Given the description of an element on the screen output the (x, y) to click on. 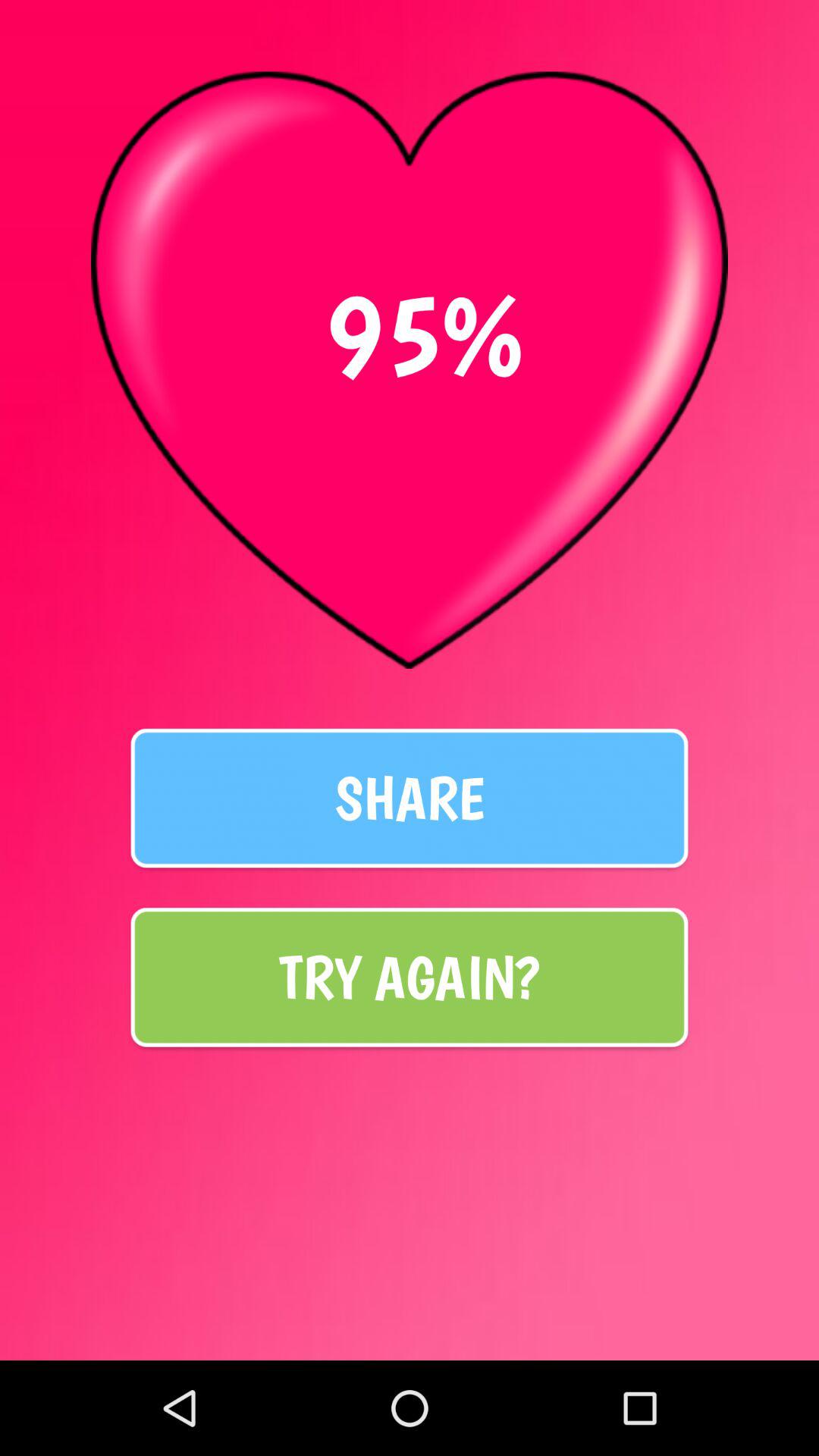
select try again? item (409, 977)
